Given the description of an element on the screen output the (x, y) to click on. 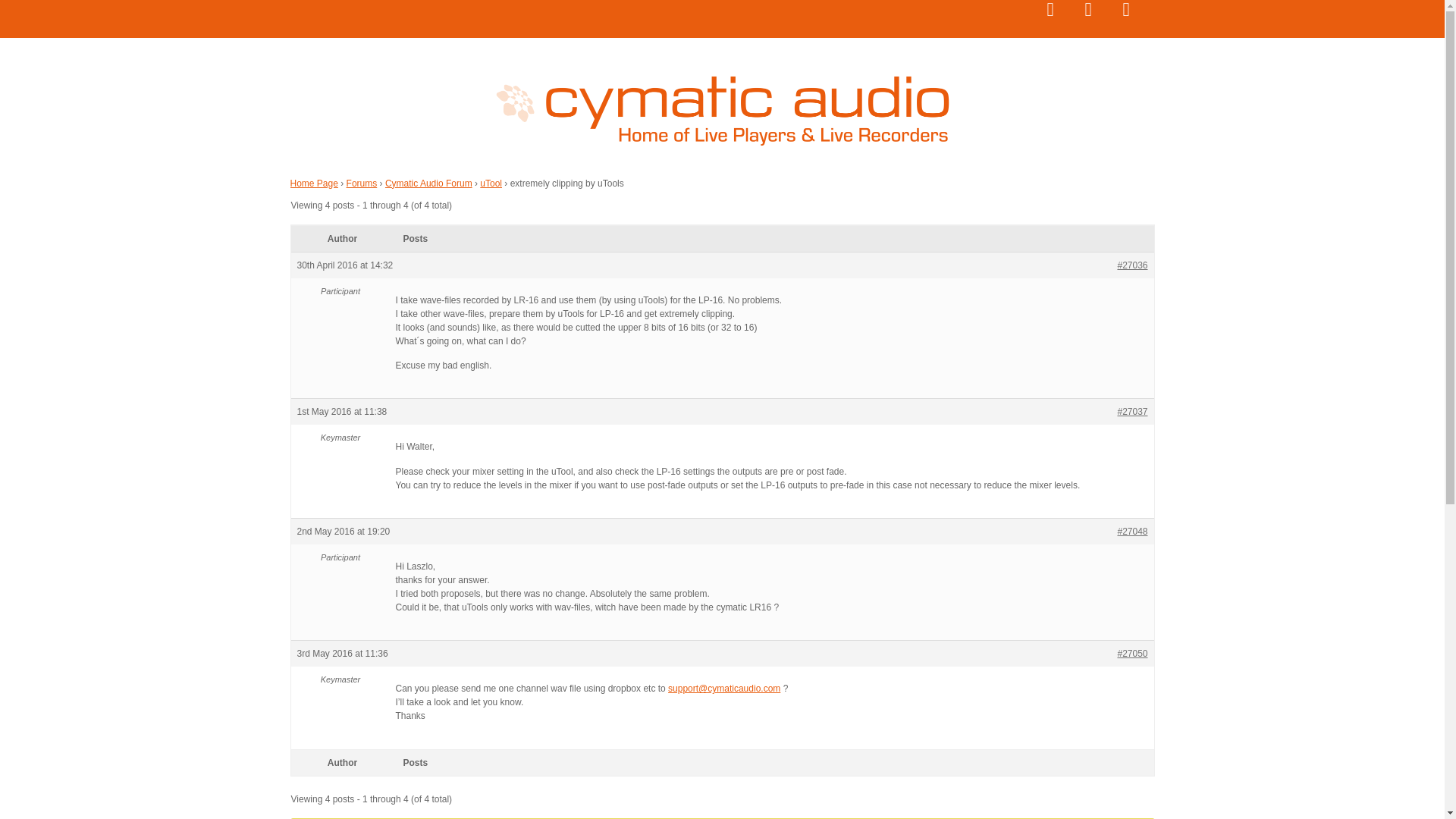
Home Page (313, 182)
uTool (491, 182)
Cymatic Audio Forum (428, 182)
Forums (361, 182)
